Given the description of an element on the screen output the (x, y) to click on. 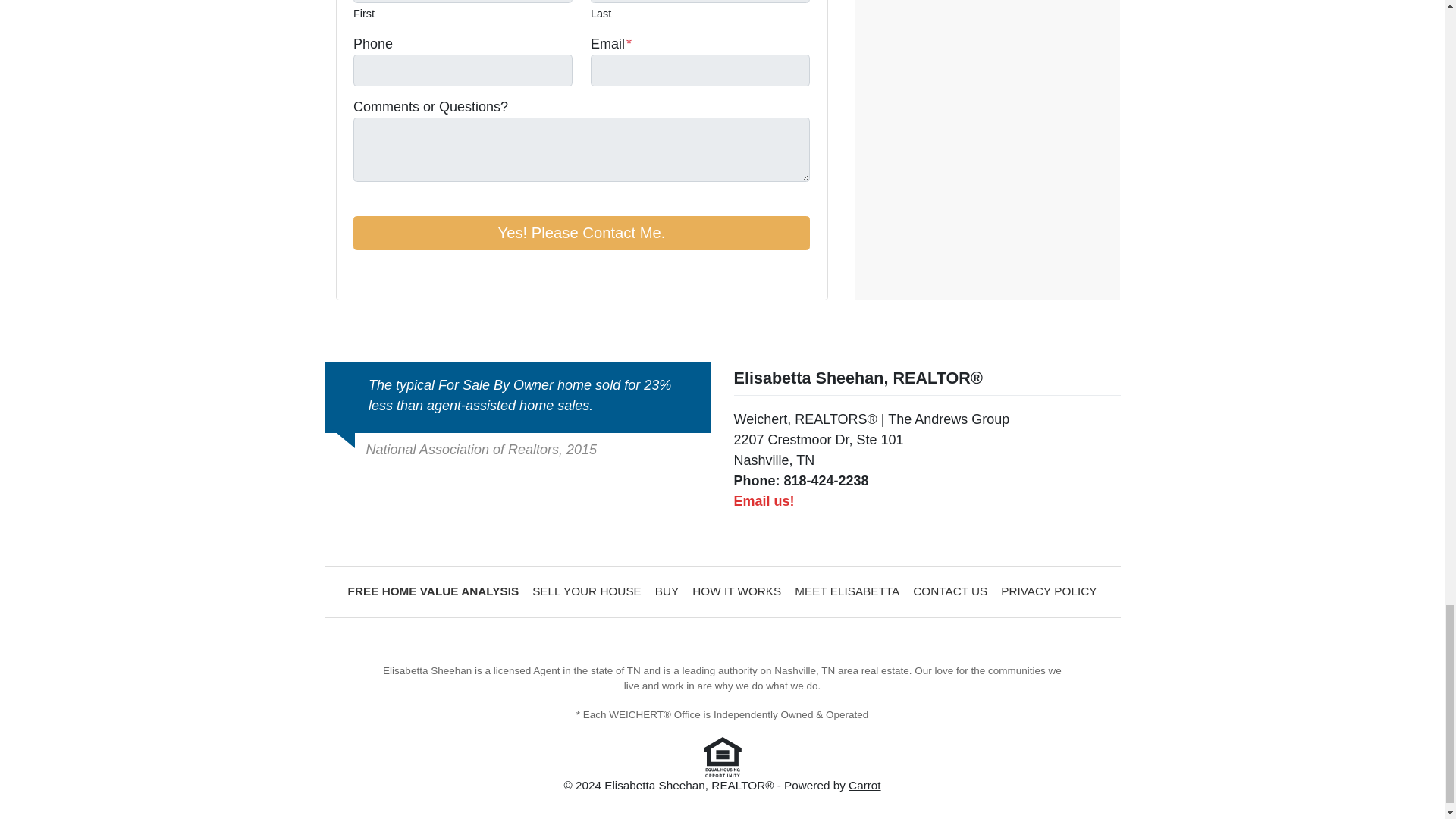
SELL YOUR HOUSE (586, 591)
Email us! (763, 500)
Yes! Please Contact Me.  (581, 233)
YouTube (383, 272)
ghghghghgh (586, 591)
Facebook (362, 272)
BUY (666, 591)
MEET ELISABETTA (846, 591)
Yes! Please Contact Me.  (581, 233)
Instagram (404, 272)
